Given the description of an element on the screen output the (x, y) to click on. 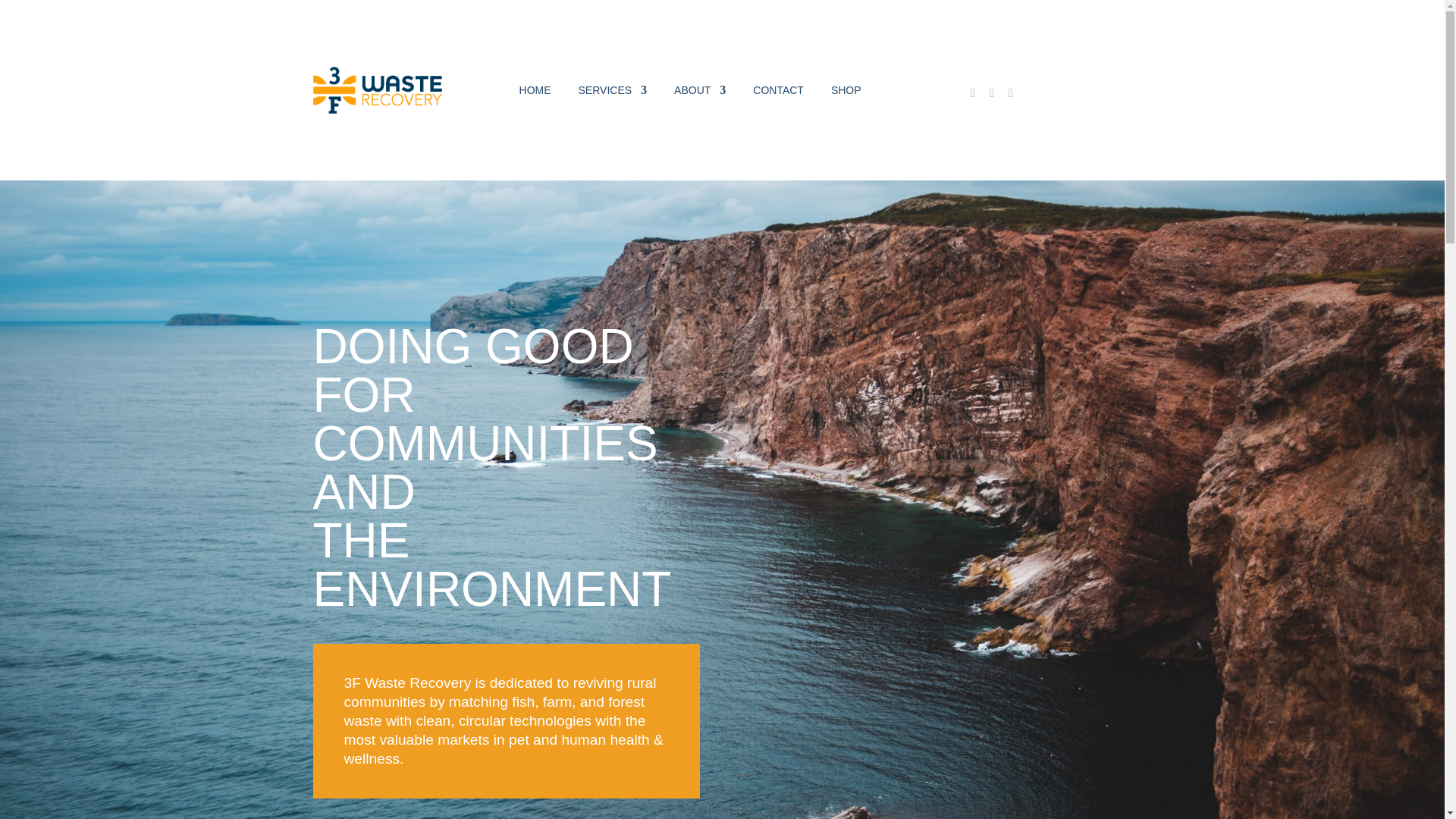
SERVICES (612, 89)
Follow on Instagram (991, 93)
ABOUT (699, 89)
Follow on Twitter (1010, 93)
Follow on Facebook (972, 93)
